Given the description of an element on the screen output the (x, y) to click on. 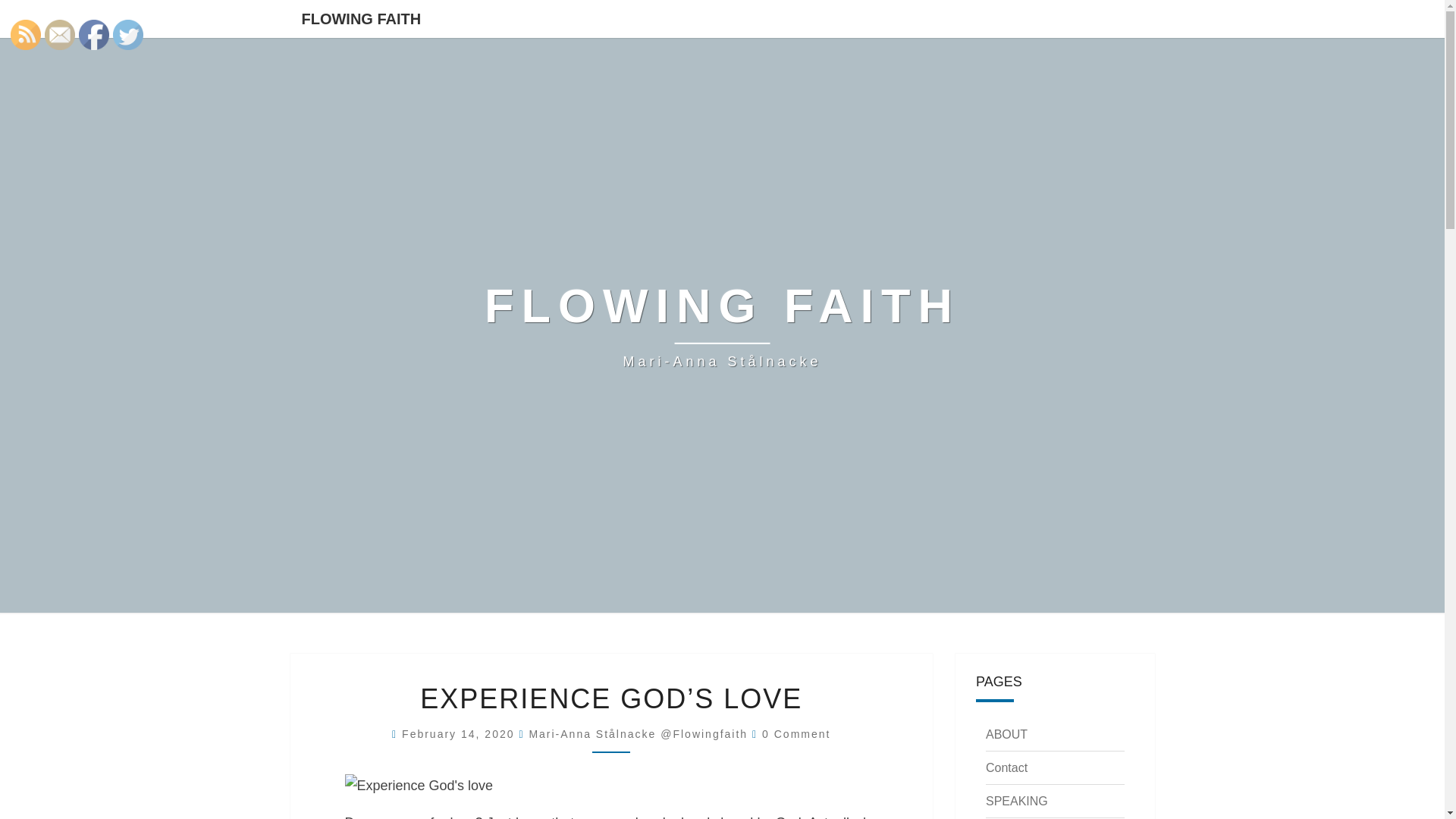
Twitter (127, 34)
3:24 pm (459, 734)
Contact (1006, 767)
RSS (25, 34)
SPEAKING (1016, 800)
ABOUT (1006, 734)
FLOWING FAITH (360, 18)
Flowing Faith (721, 325)
February 14, 2020 (459, 734)
0 Comment (795, 734)
Follow by Email (60, 34)
Facebook (93, 34)
